Given the description of an element on the screen output the (x, y) to click on. 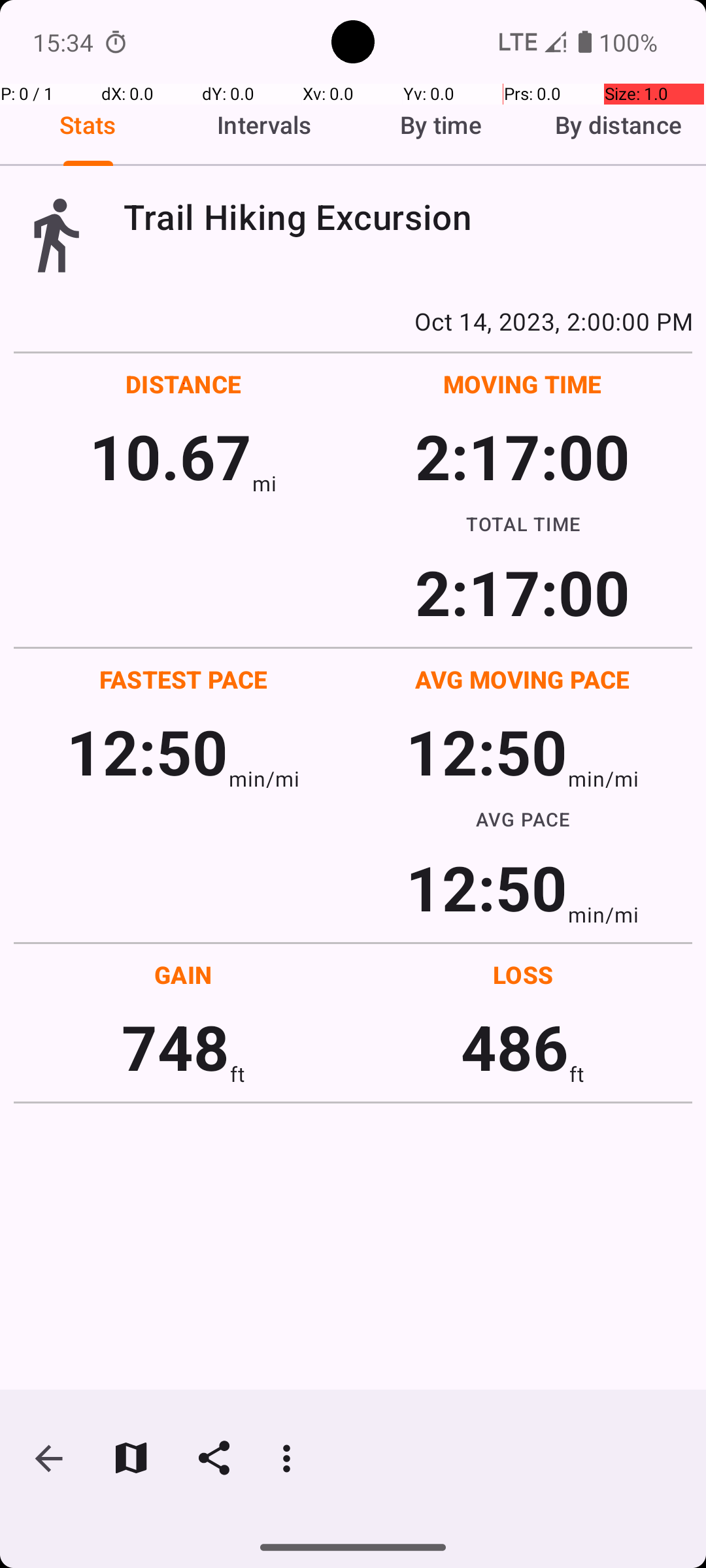
Trail Hiking Excursion Element type: android.widget.TextView (407, 216)
Oct 14, 2023, 2:00:00 PM Element type: android.widget.TextView (352, 320)
10.67 Element type: android.widget.TextView (170, 455)
2:17:00 Element type: android.widget.TextView (522, 455)
12:50 Element type: android.widget.TextView (147, 750)
748 Element type: android.widget.TextView (175, 1045)
486 Element type: android.widget.TextView (514, 1045)
